Given the description of an element on the screen output the (x, y) to click on. 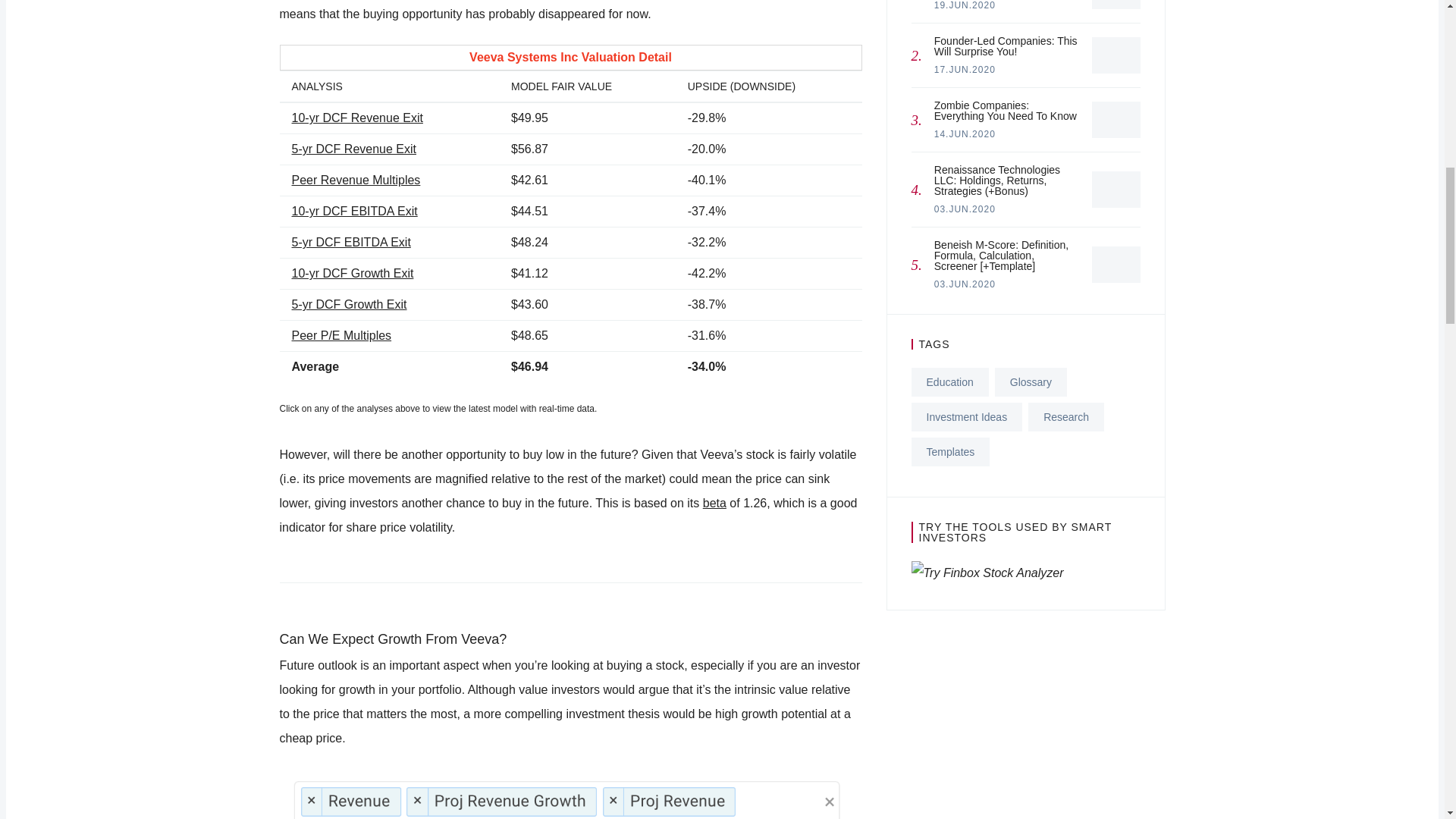
03 June 2020 (1025, 55)
19 June 2020 (964, 208)
10-yr DCF EBITDA Exit (964, 5)
5-yr DCF Growth Exit (353, 210)
beta (1025, 11)
5-yr DCF Revenue Exit (348, 304)
5-yr DCF EBITDA Exit (714, 502)
10-yr DCF Revenue Exit (353, 148)
10-yr DCF Growth Exit (350, 241)
14 June 2020 (356, 117)
03 June 2020 (352, 273)
Peer Revenue Multiples (964, 133)
17 June 2020 (964, 284)
